Given the description of an element on the screen output the (x, y) to click on. 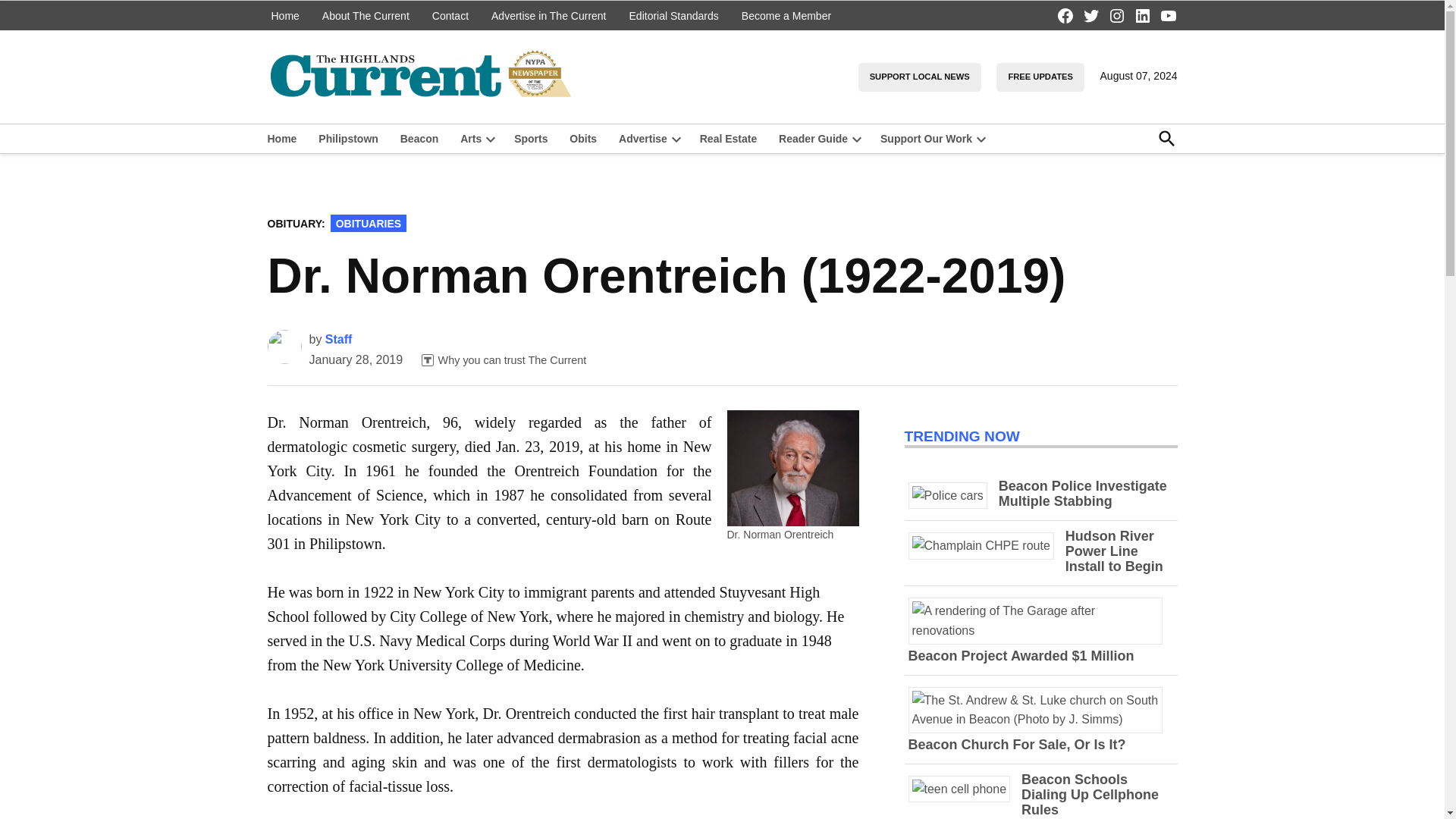
Beacon Church For Sale, Or Is It? (1016, 744)
Beacon Schools Dialing Up Cellphone Rules (965, 788)
Hudson River Power Line Install to Begin (1114, 551)
Hudson River Power Line Install to Begin (986, 545)
Beacon Church For Sale, Or Is It? (1040, 718)
Beacon Schools Dialing Up Cellphone Rules (1090, 794)
